Given the description of an element on the screen output the (x, y) to click on. 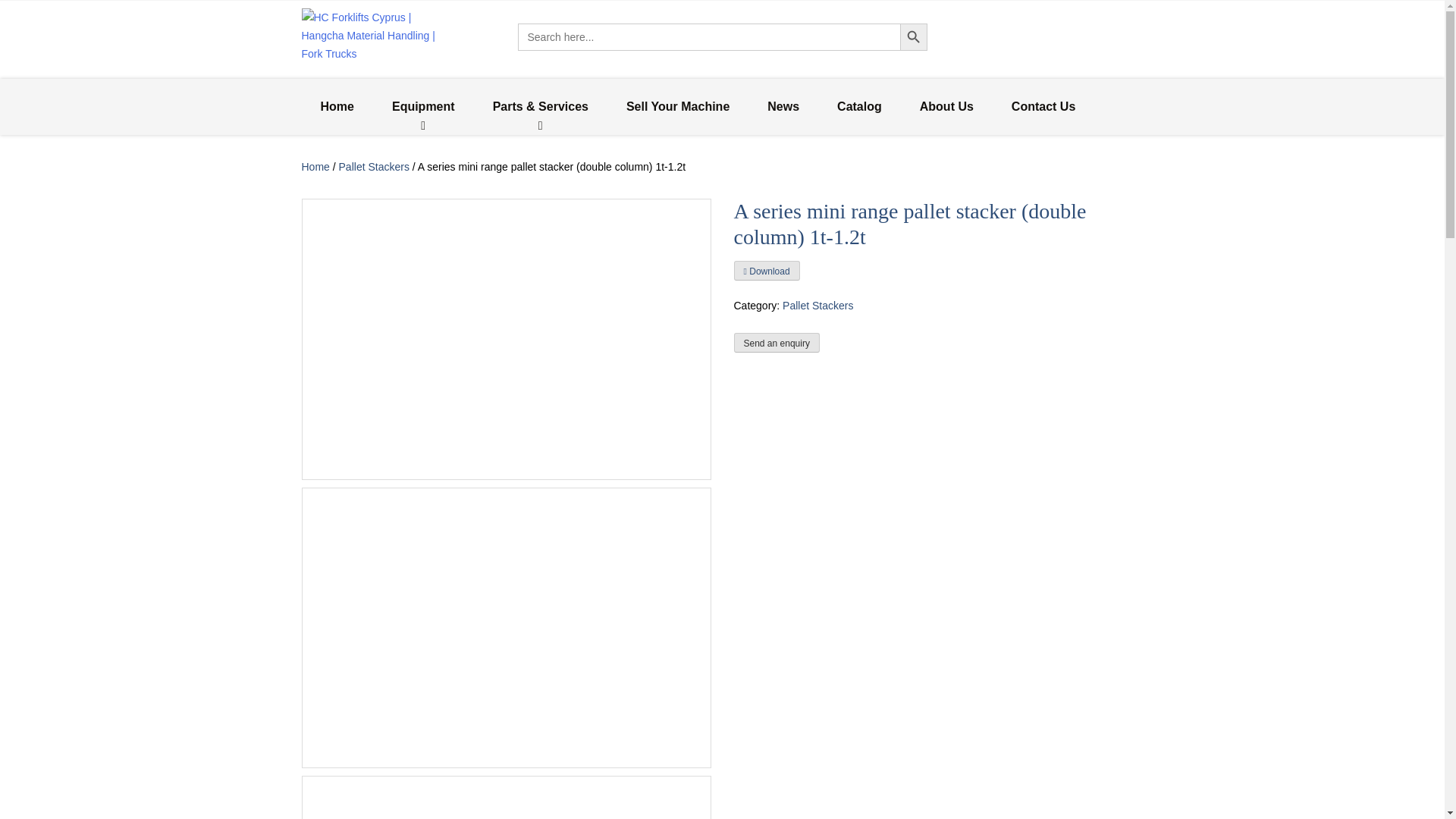
Pallet Stackers (374, 166)
Pallet Stackers (818, 305)
Download (766, 270)
News (783, 106)
About Us (946, 106)
Send an enquiry (776, 342)
Download (766, 270)
Catalog (859, 106)
Contact Us (1043, 106)
Search Button (912, 36)
